Given the description of an element on the screen output the (x, y) to click on. 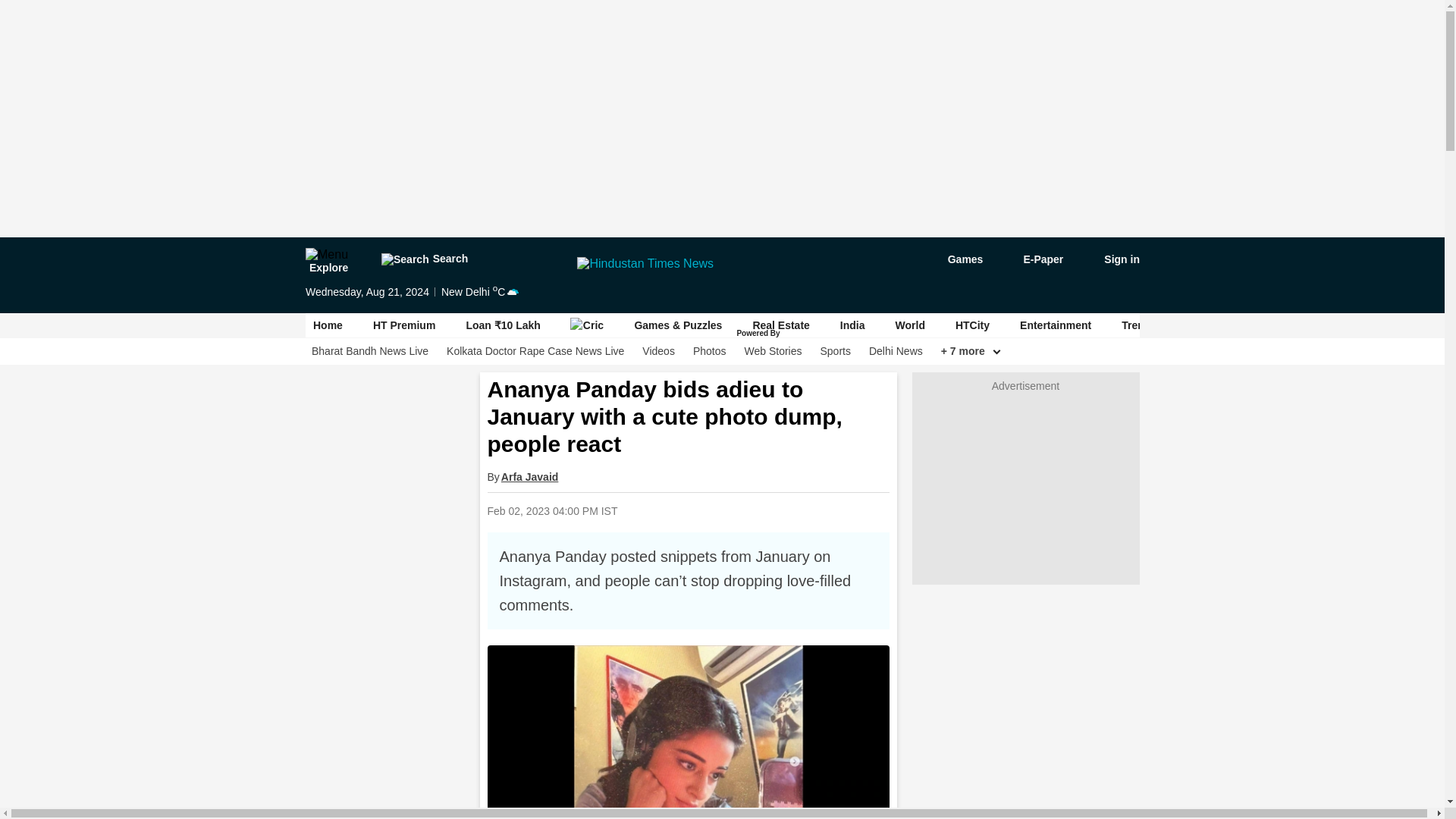
Sports (834, 350)
Web Stories (773, 350)
HTCity (971, 325)
Share on Facebook (710, 510)
game (954, 258)
Real Estate (780, 324)
Powered By (758, 333)
Photos (709, 350)
Kolkata Doctor Rape Case News Live (535, 350)
E-Paper (1034, 258)
